Given the description of an element on the screen output the (x, y) to click on. 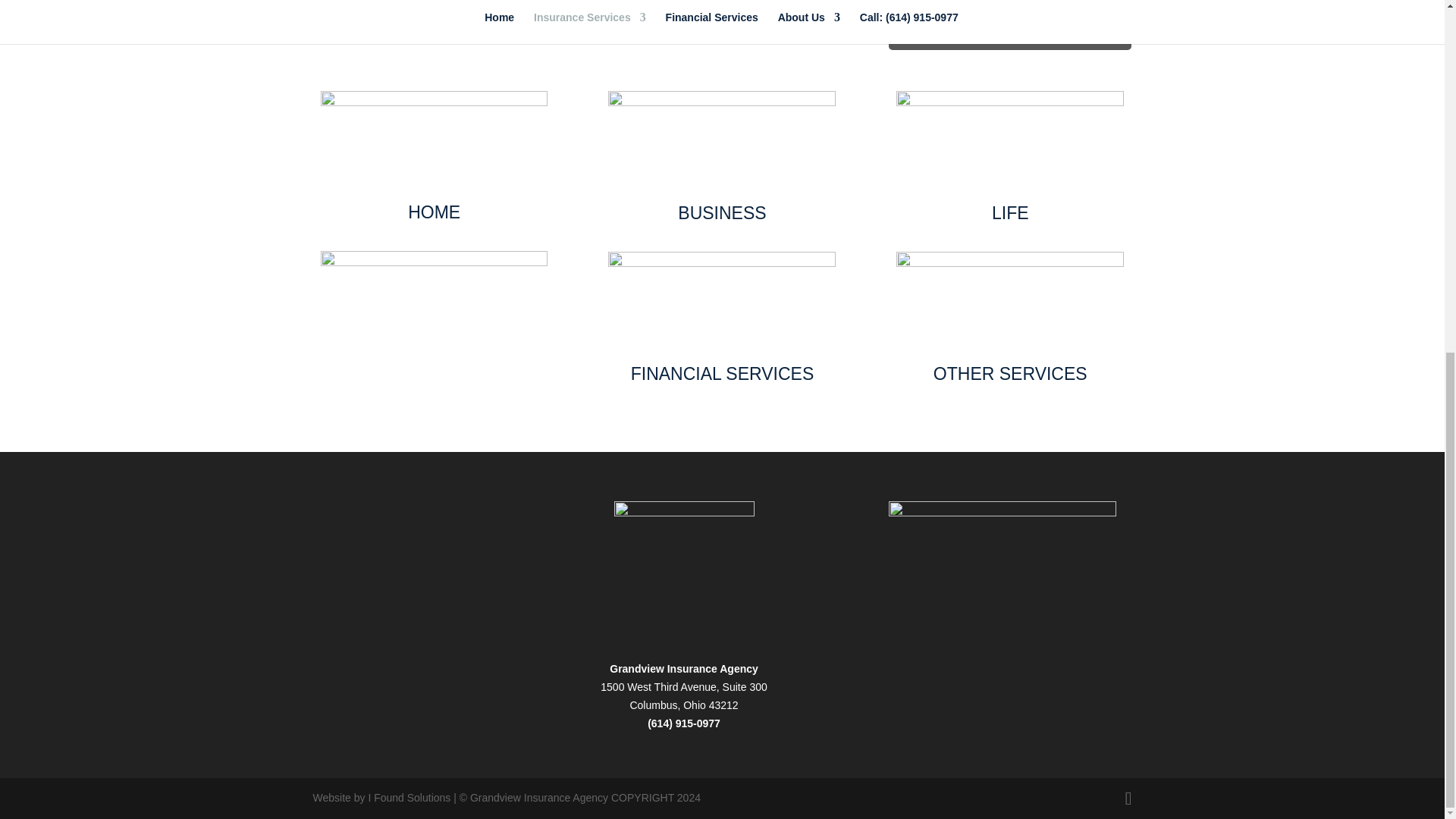
Get a Quote (1010, 19)
Get a Quote (1010, 19)
Contact Us (621, 9)
BUSINESS (721, 212)
OTHER SERVICES (1010, 373)
LIFE (1010, 212)
FINANCIAL SERVICES (721, 373)
HOME (433, 211)
Contact Us (621, 9)
